Given the description of an element on the screen output the (x, y) to click on. 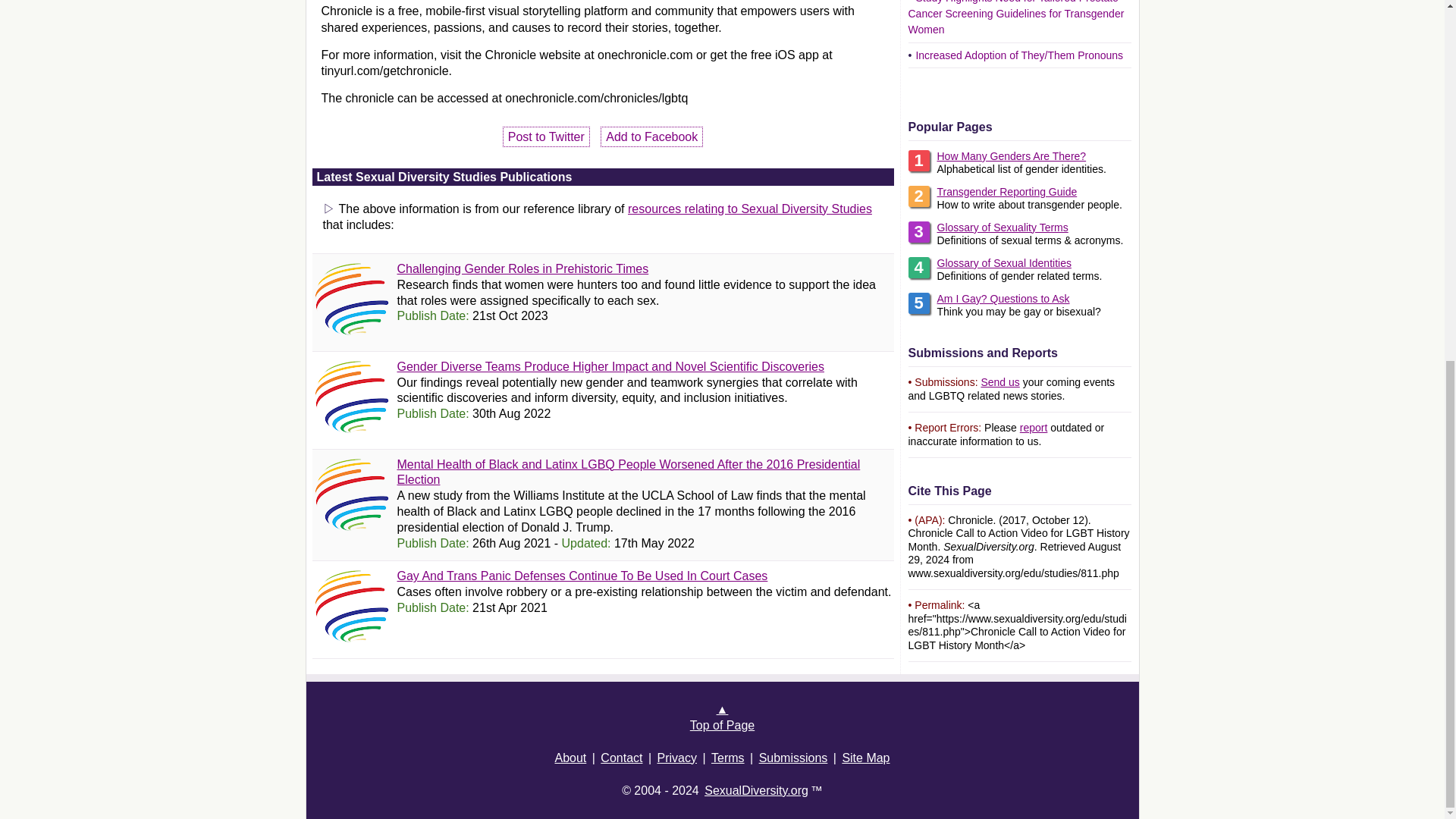
Post to Twitter (545, 136)
Challenging Gender Roles in Prehistoric Times (523, 268)
Add to Facebook (651, 136)
